Given the description of an element on the screen output the (x, y) to click on. 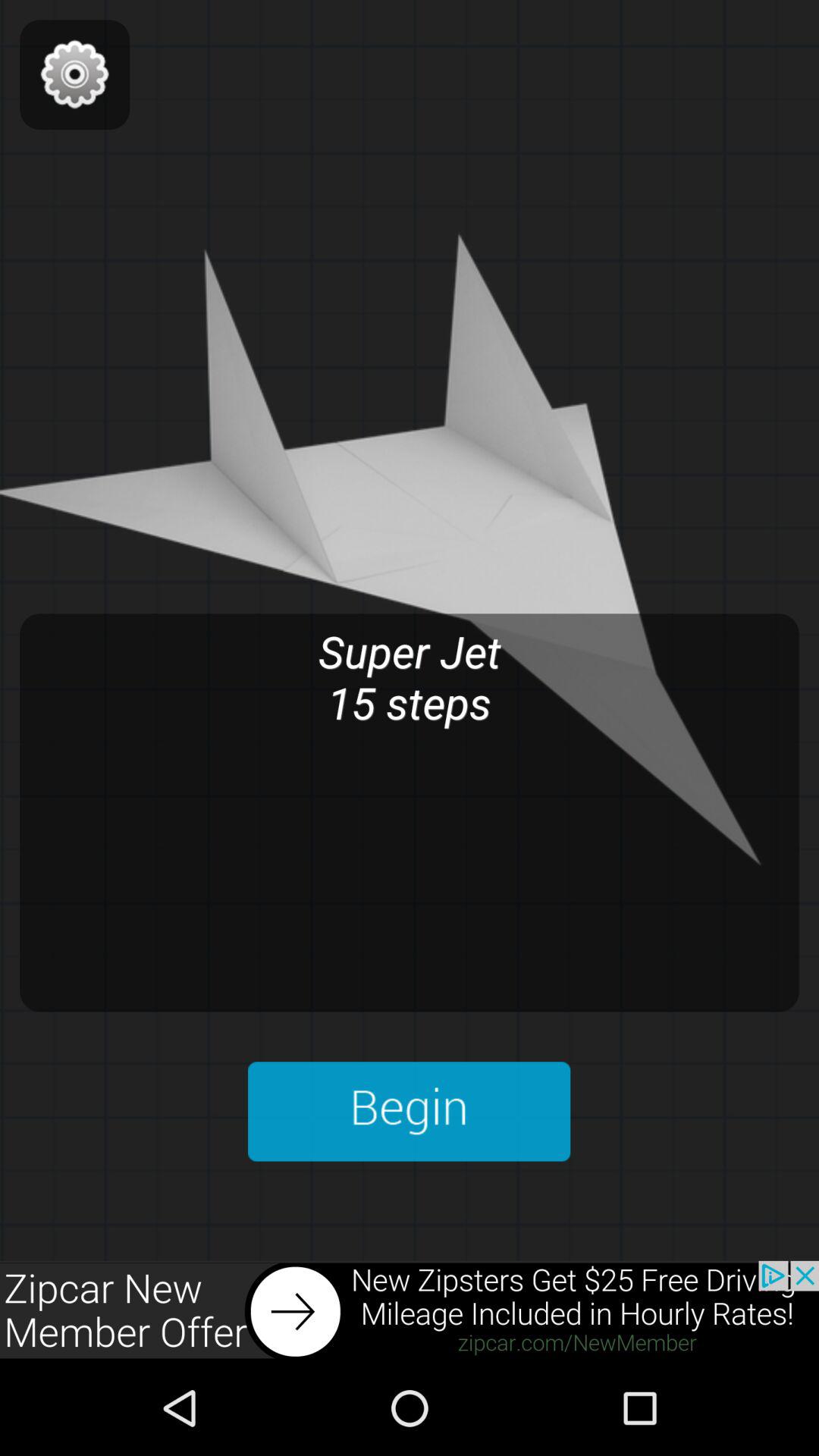
let start (408, 1111)
